Given the description of an element on the screen output the (x, y) to click on. 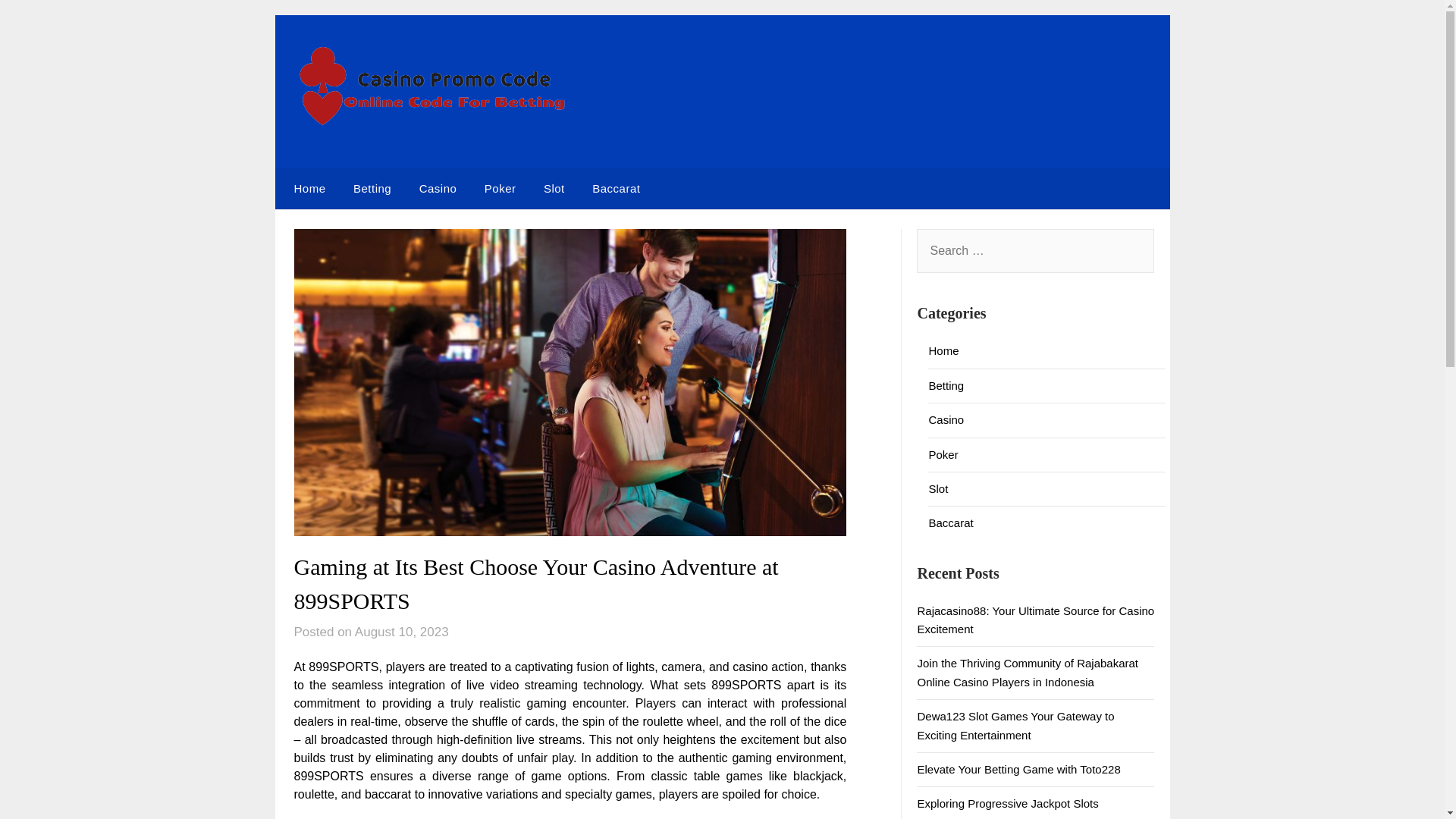
Casino (437, 188)
Dewa123 Slot Games Your Gateway to Exciting Entertainment (1015, 725)
Exploring Progressive Jackpot Slots (1007, 802)
Search (38, 22)
Rajacasino88: Your Ultimate Source for Casino Excitement (1035, 619)
Poker (943, 453)
Baccarat (615, 188)
Slot (937, 488)
Elevate Your Betting Game with Toto228 (1018, 768)
Slot (553, 188)
Betting (371, 188)
Betting (945, 385)
Casino (945, 419)
Home (306, 188)
